Given the description of an element on the screen output the (x, y) to click on. 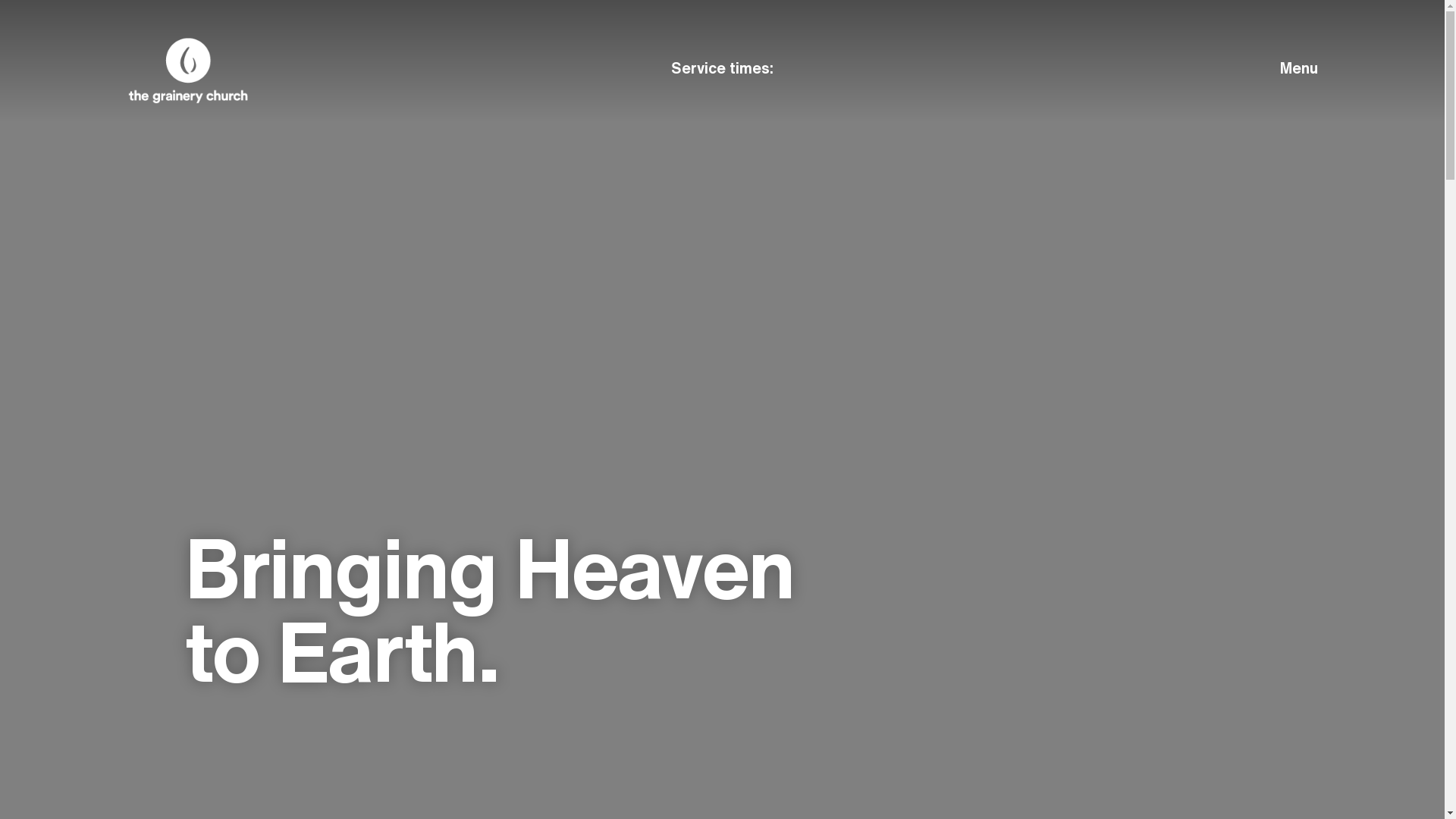
Menu Element type: text (1228, 68)
